Given the description of an element on the screen output the (x, y) to click on. 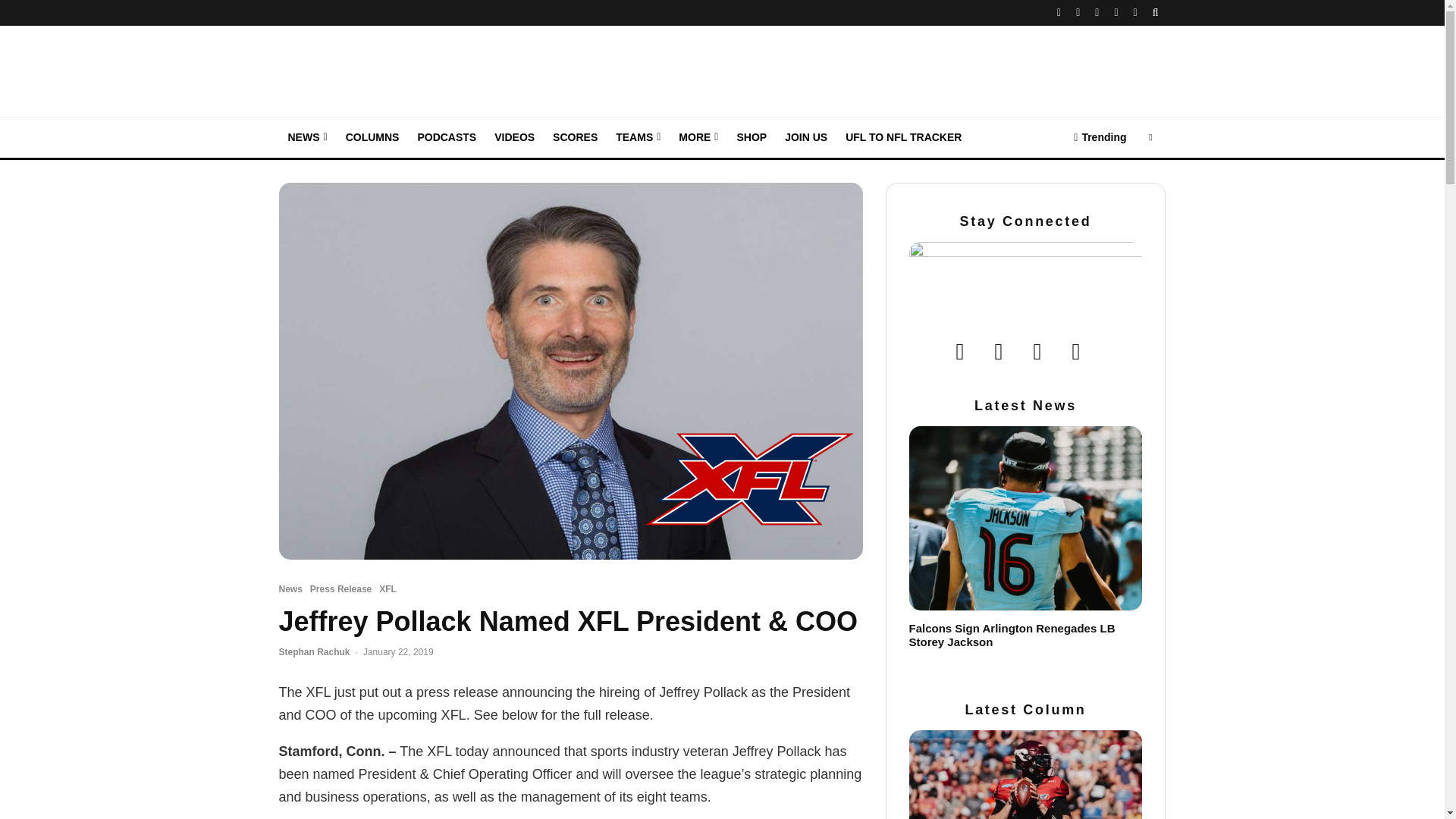
Posts by Stephan Rachuk (314, 652)
PODCASTS (445, 137)
COLUMNS (372, 137)
NEWS (307, 137)
